Given the description of an element on the screen output the (x, y) to click on. 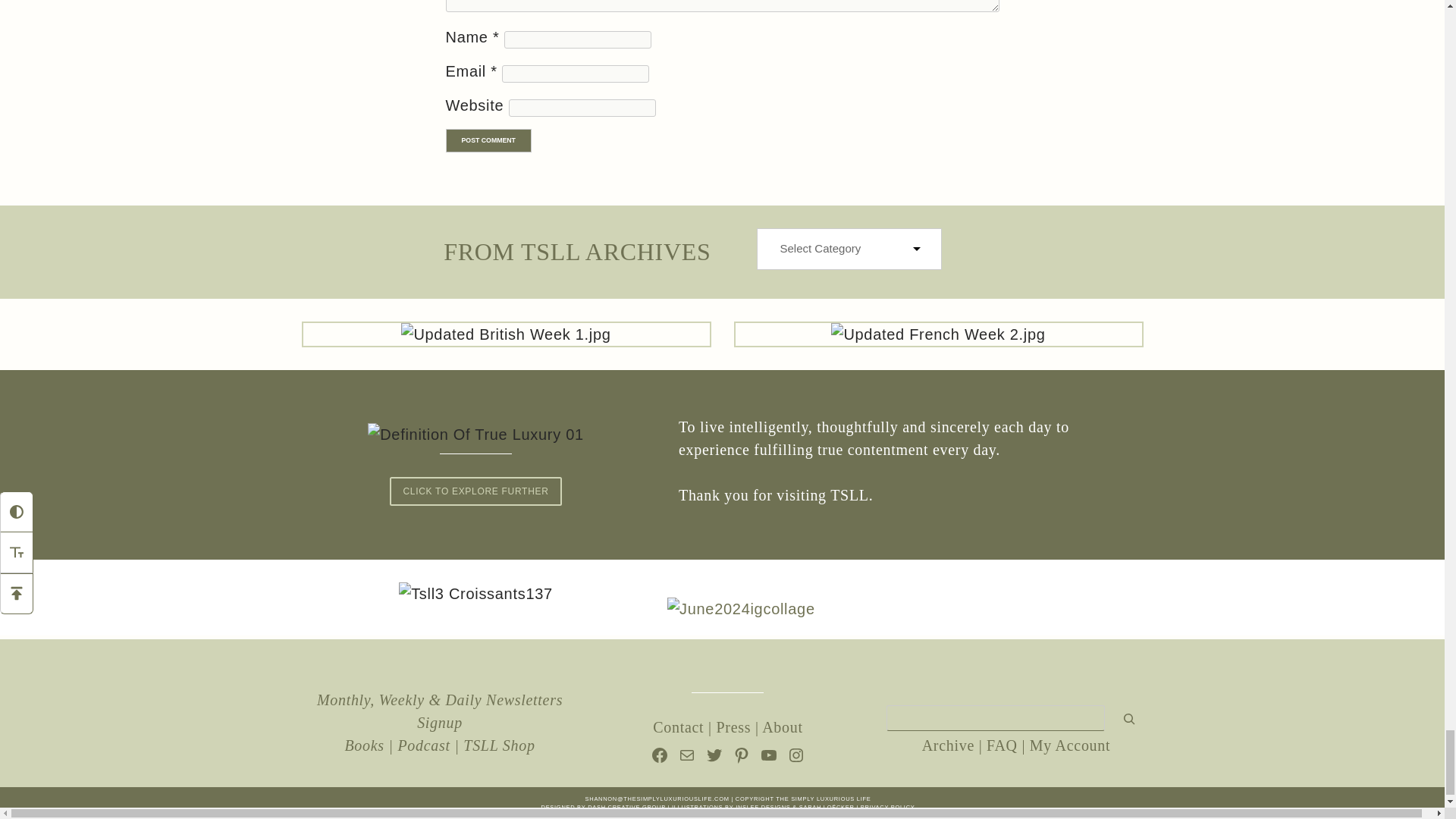
Post Comment (488, 140)
